Given the description of an element on the screen output the (x, y) to click on. 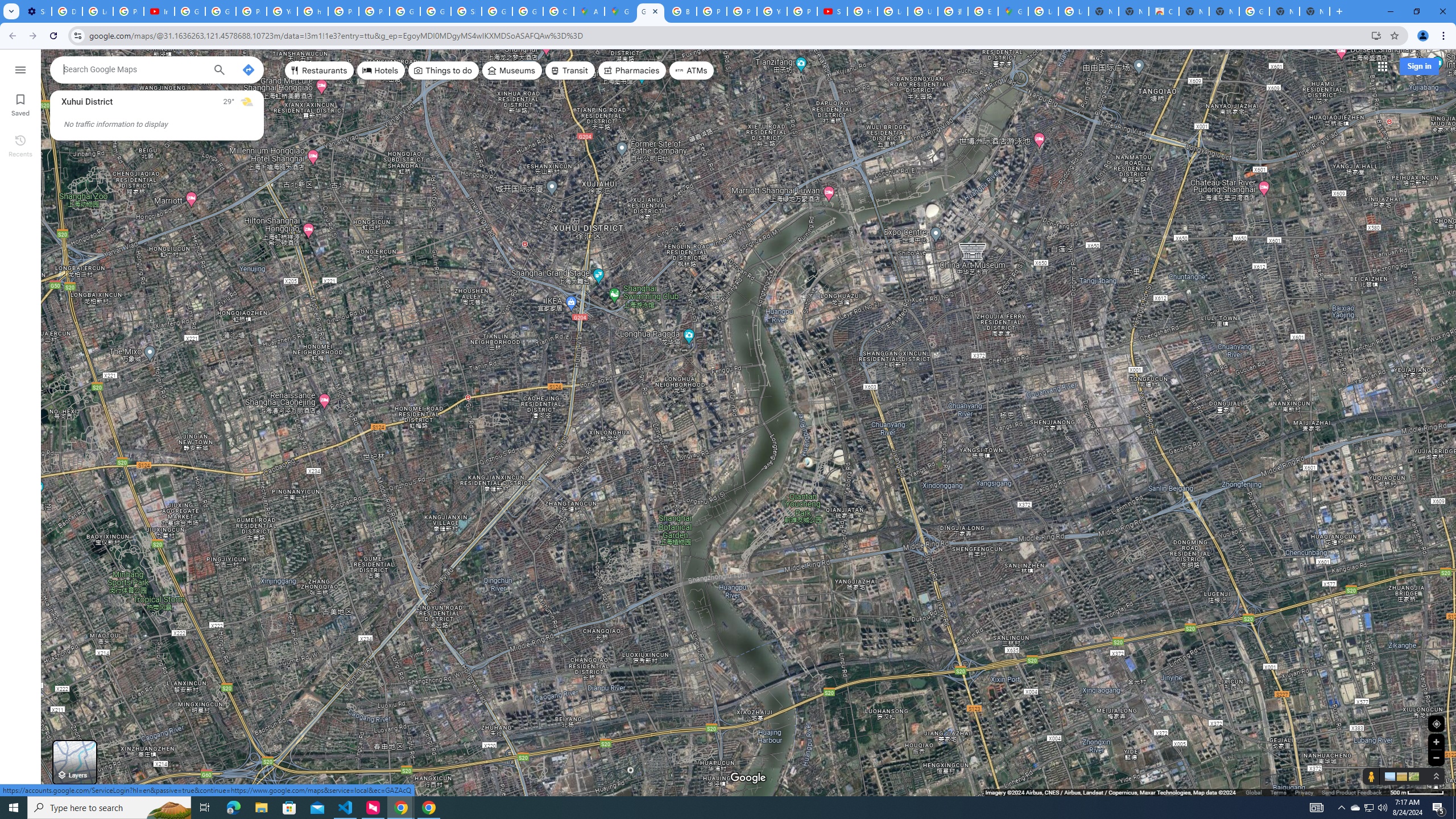
Hotels (381, 70)
Google Maps (1012, 11)
Address and search bar (726, 35)
Pharmacies (632, 70)
Menu (20, 68)
Sign in (1418, 66)
Blogger Policies and Guidelines - Transparency Center (681, 11)
Global (1253, 792)
Privacy (1303, 792)
Google Maps (650, 11)
